Given the description of an element on the screen output the (x, y) to click on. 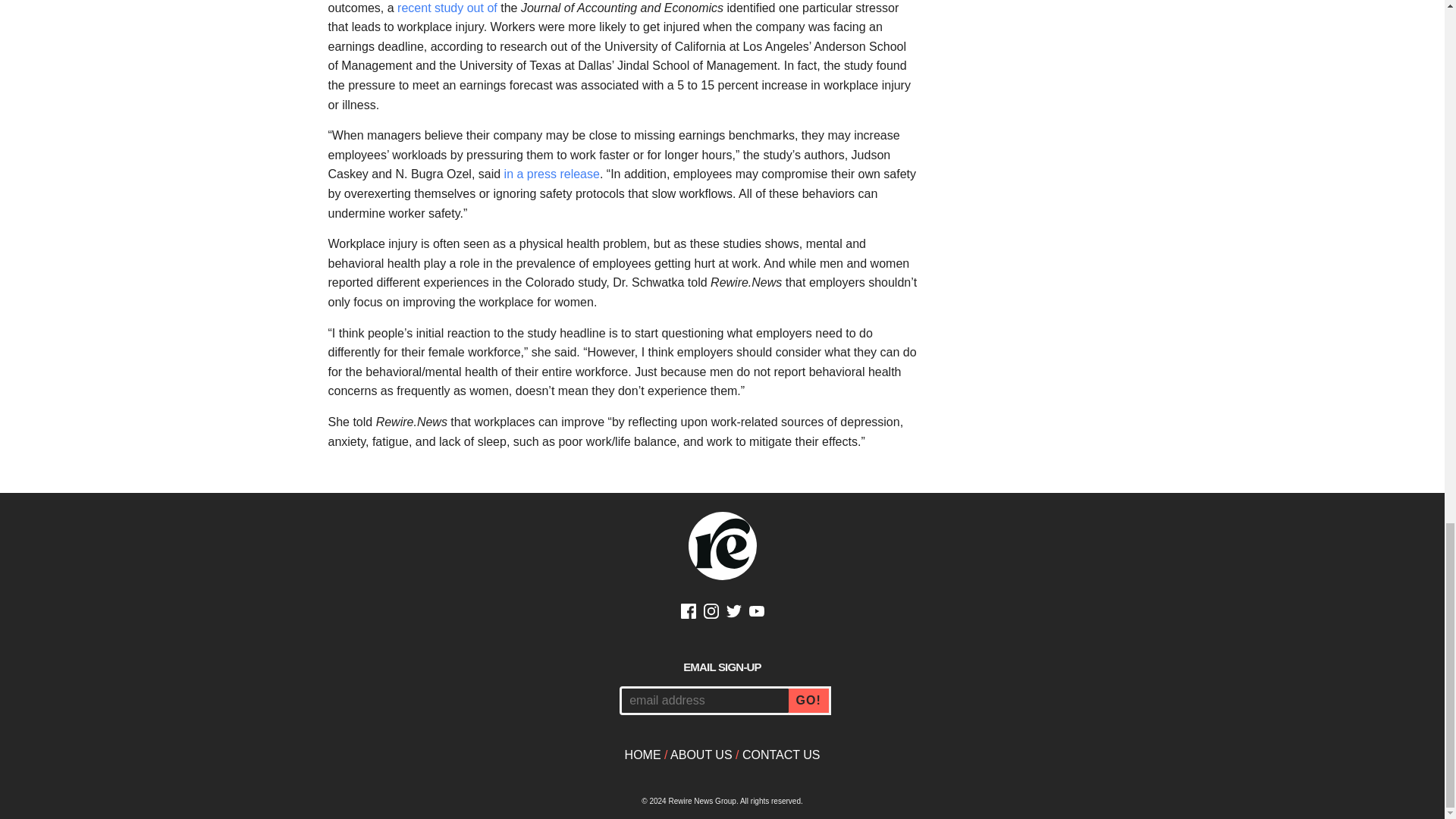
GO! (810, 700)
FACEBOOK (688, 613)
in a press release (551, 173)
recent study out of (447, 7)
